Given the description of an element on the screen output the (x, y) to click on. 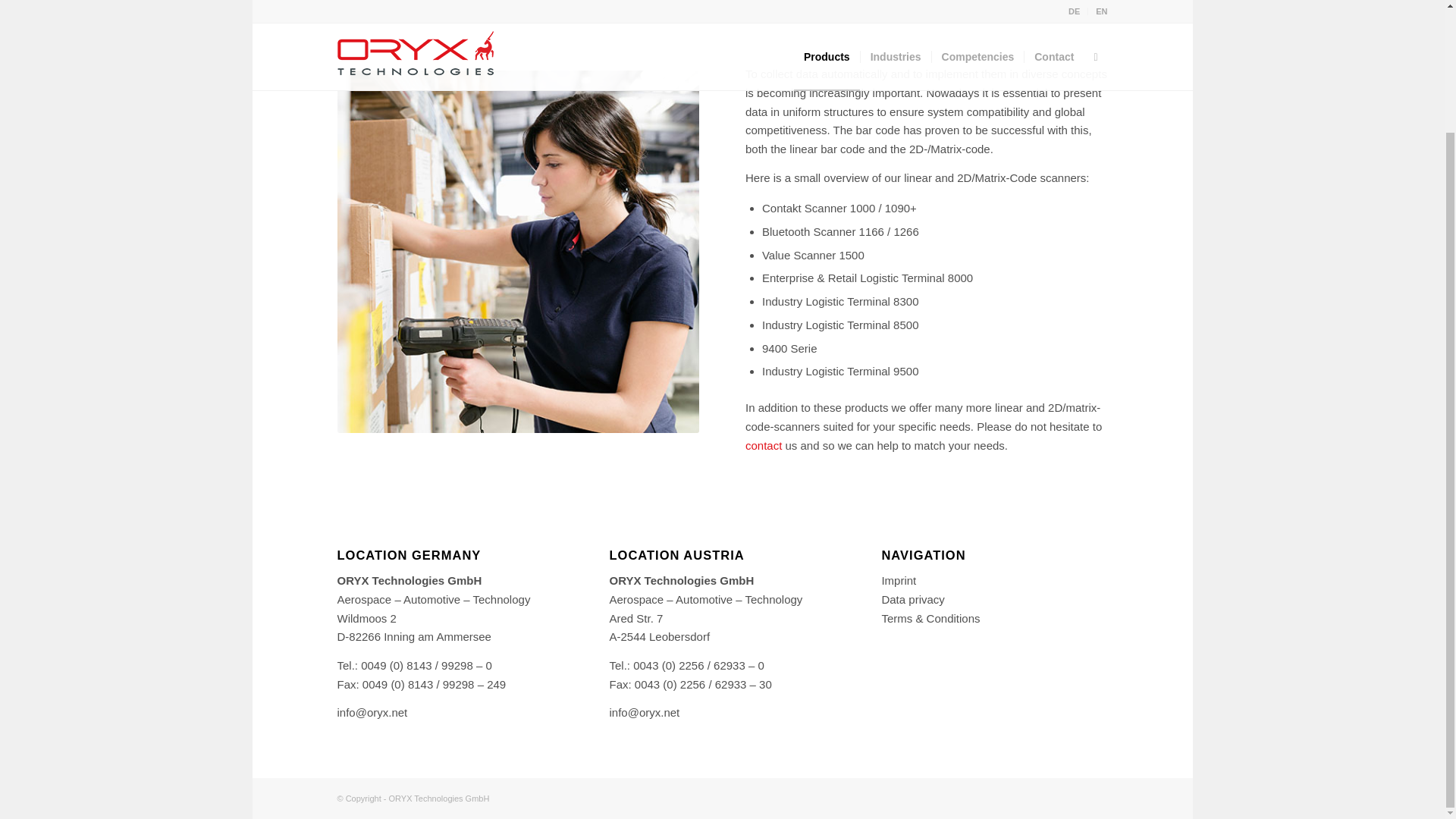
logistik (517, 251)
contact (763, 445)
Imprint (897, 580)
